Given the description of an element on the screen output the (x, y) to click on. 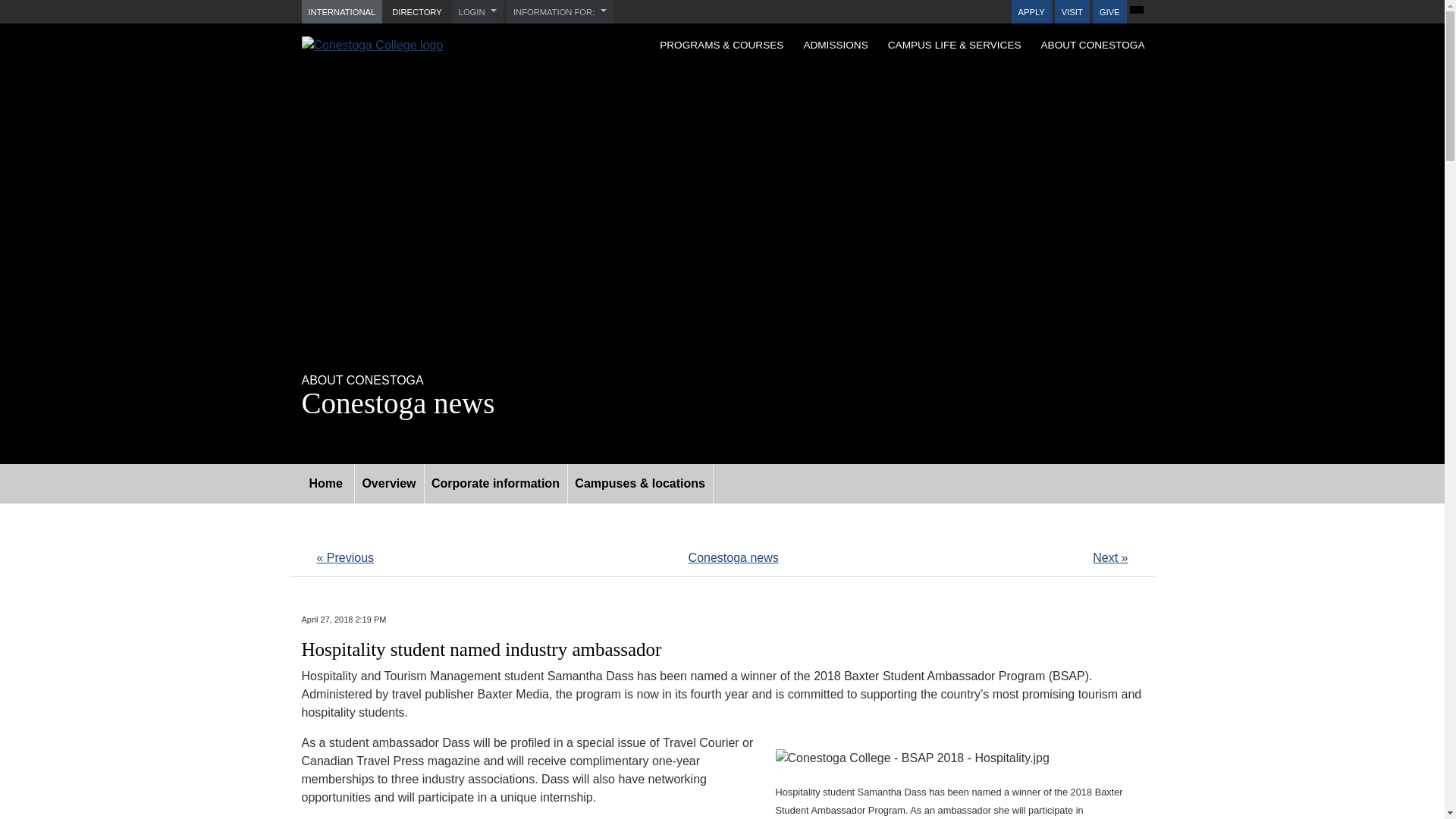
ADMISSIONS (835, 44)
ABOUT CONESTOGA (1092, 44)
LOGIN (477, 11)
INTERNATIONAL (341, 11)
APPLY (1031, 11)
VISIT (1071, 11)
DIRECTORY (416, 11)
INFORMATION FOR: (559, 11)
GIVE (1109, 11)
